Given the description of an element on the screen output the (x, y) to click on. 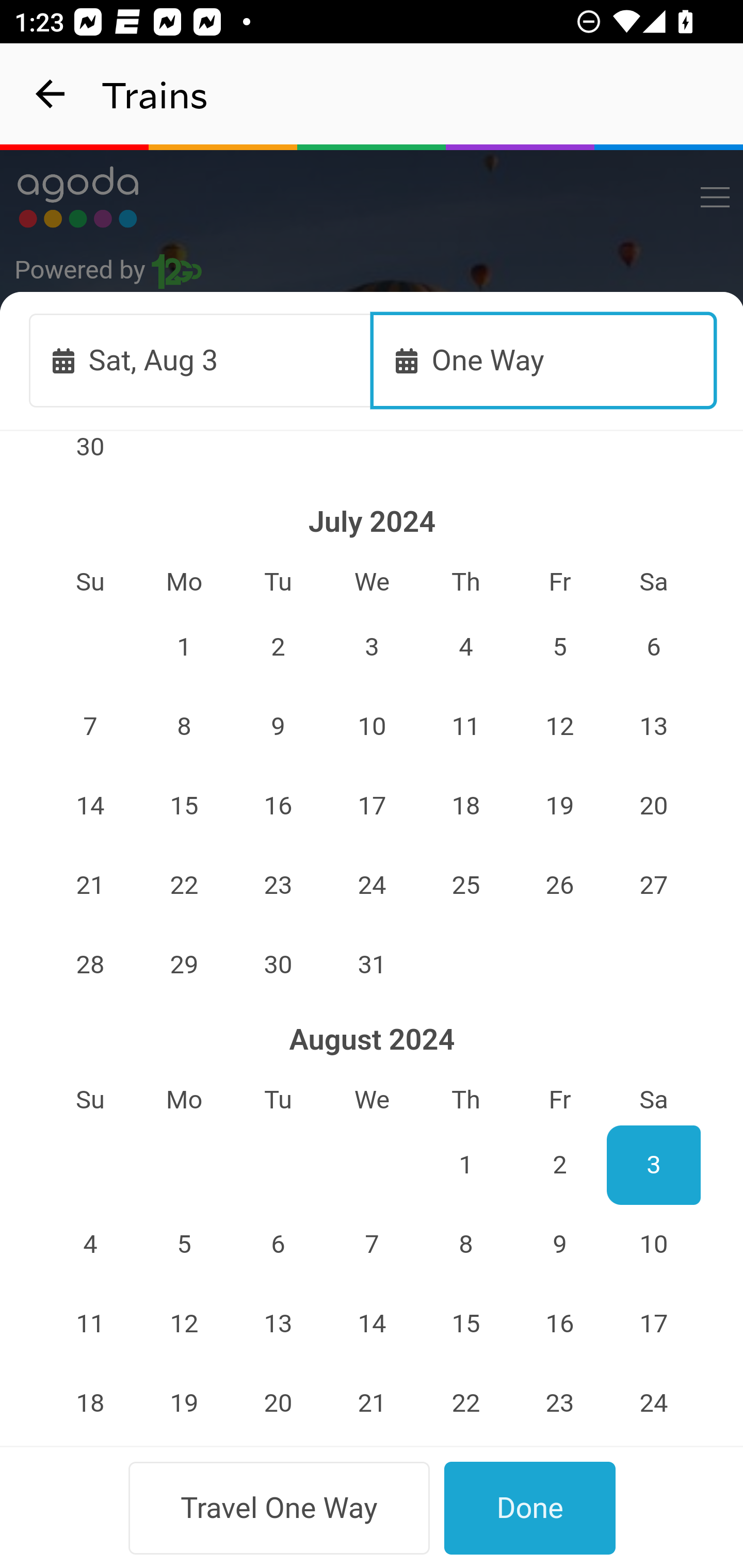
navigation_button (50, 93)
Sat, Aug 3 (200, 359)
One Way (544, 359)
30 (90, 458)
Manchester Swap trip points (372, 576)
1 (184, 647)
2 (278, 647)
3 (372, 647)
4 (465, 647)
5 (559, 647)
6 (654, 647)
7 (90, 726)
8 (184, 726)
9 (278, 726)
10 (372, 726)
11 (465, 726)
12 (559, 726)
13 (654, 726)
14 (90, 805)
15 (184, 805)
16 (278, 805)
17 (372, 805)
18 (465, 805)
19 (559, 805)
20 (654, 805)
21 (90, 885)
22 (184, 885)
23 (278, 885)
25 (465, 885)
26 (559, 885)
27 (654, 885)
28 (90, 964)
29 (184, 964)
30 (278, 964)
31 (372, 964)
1 (465, 1164)
2 (559, 1164)
3 (654, 1164)
4 (90, 1244)
5 (184, 1244)
6 (278, 1244)
7 (372, 1244)
8 (465, 1244)
9 (559, 1244)
10 (654, 1244)
11 (90, 1324)
12 (184, 1324)
13 (278, 1324)
14 (372, 1324)
15 (465, 1324)
16 (559, 1324)
17 (654, 1324)
18 (90, 1403)
19 (184, 1403)
20 (278, 1403)
21 (372, 1403)
22 (465, 1403)
23 (559, 1403)
24 (654, 1403)
Travel One Way (278, 1508)
Done (530, 1508)
